Given the description of an element on the screen output the (x, y) to click on. 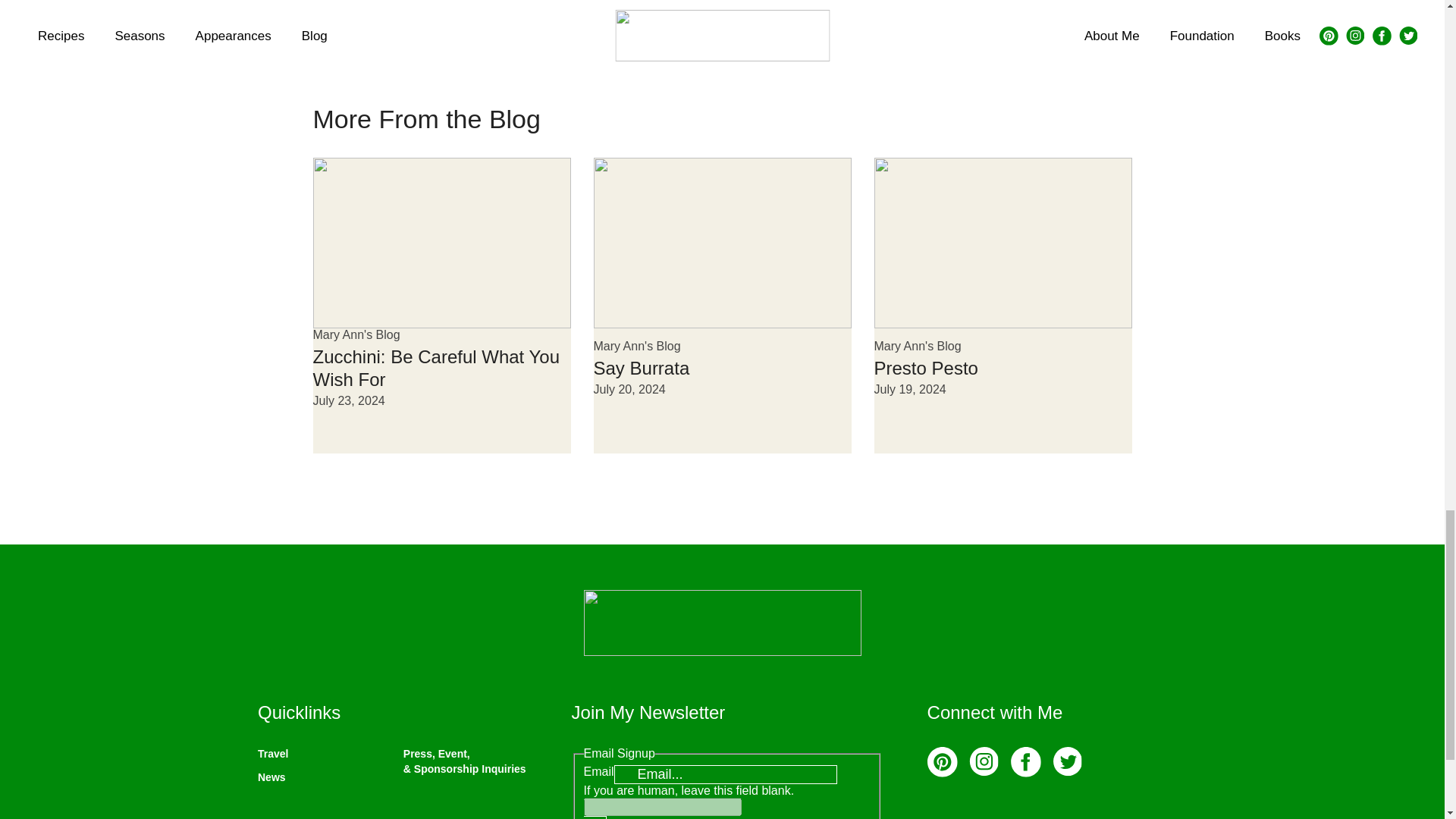
Say Burrata (640, 367)
News (271, 776)
Travel (272, 753)
Presto Pesto (924, 367)
Zucchini: Be Careful What You Wish For  (436, 367)
